Given the description of an element on the screen output the (x, y) to click on. 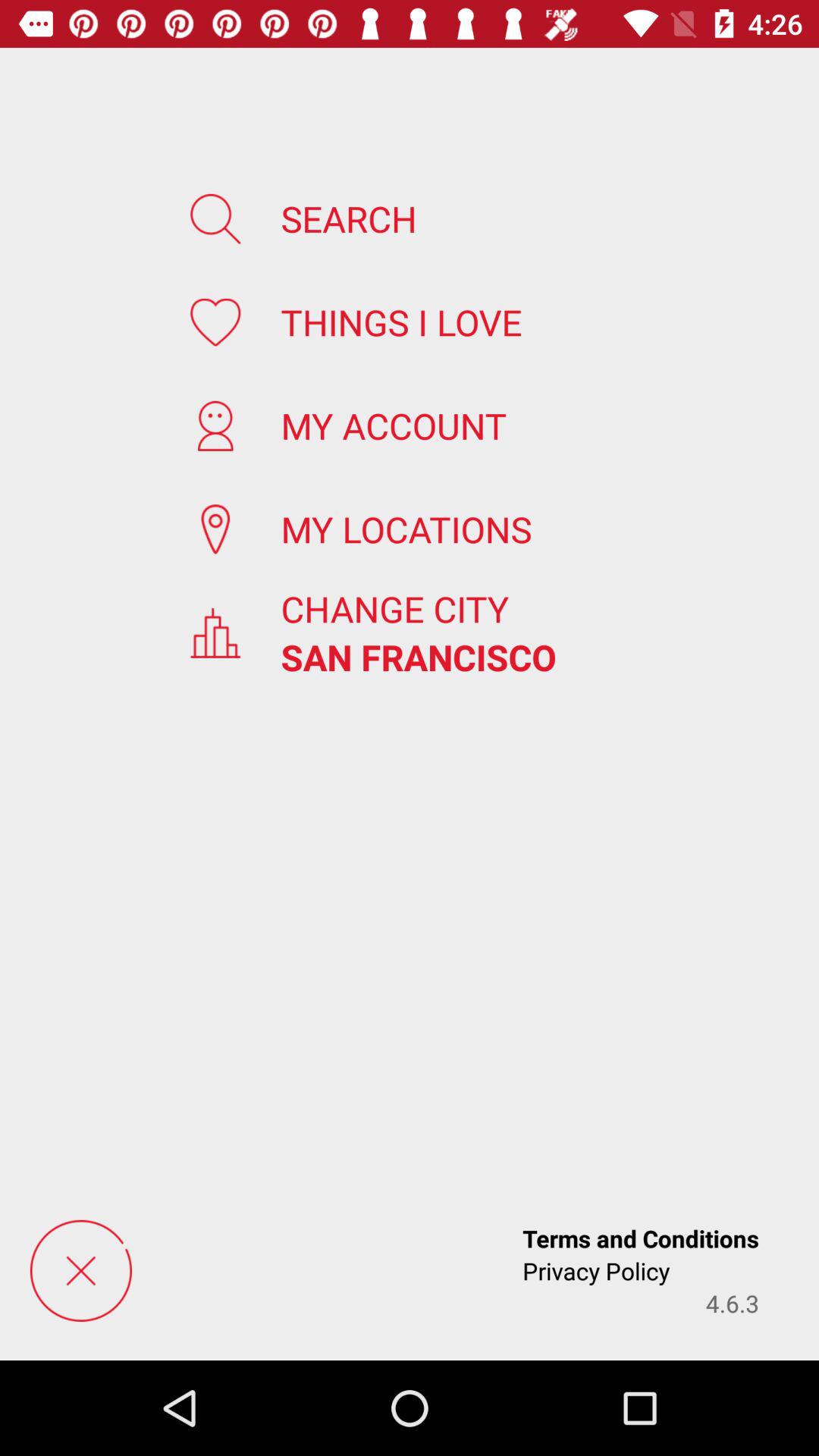
swipe until my locations (405, 529)
